Given the description of an element on the screen output the (x, y) to click on. 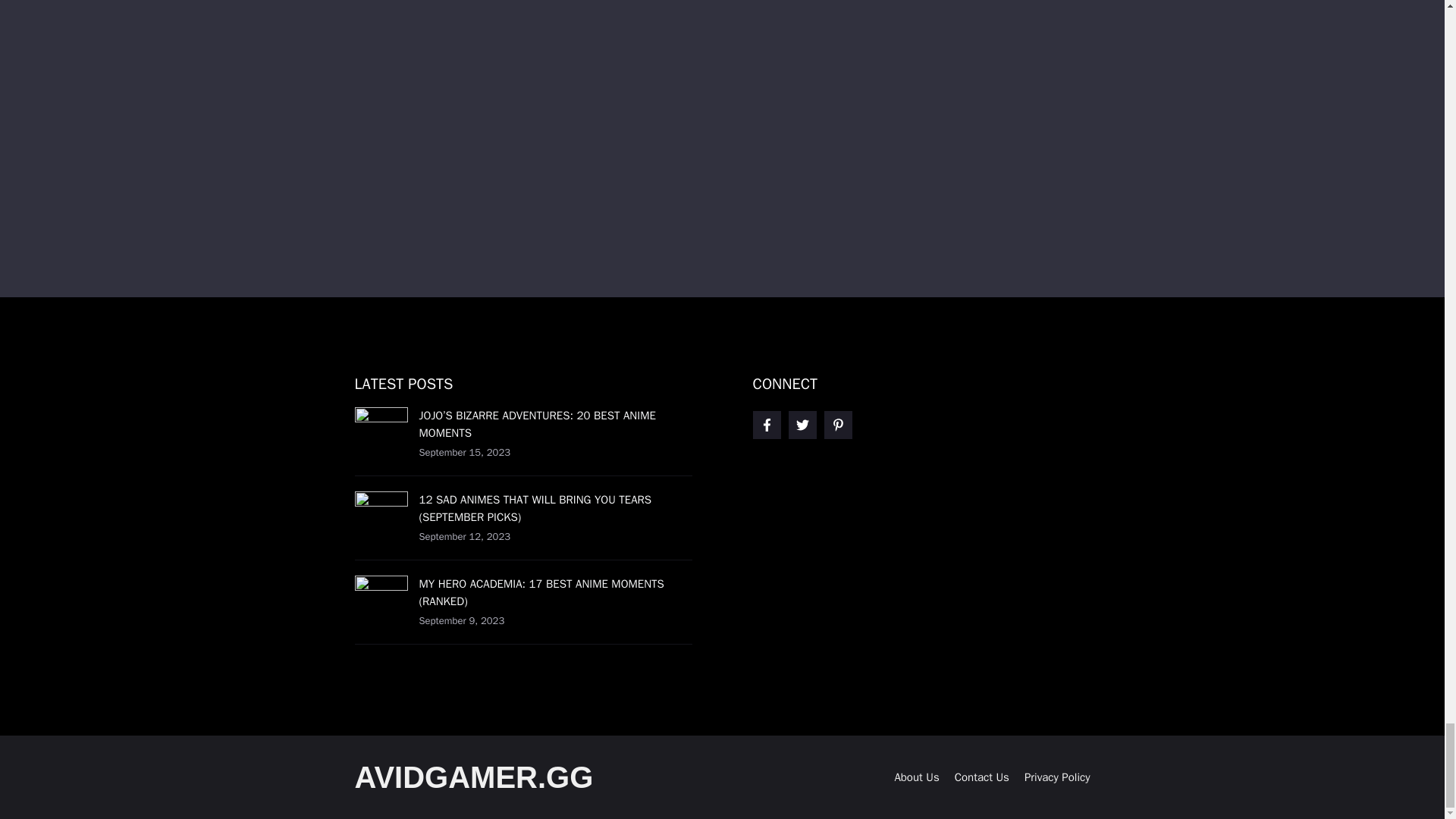
About Us (916, 776)
Privacy Policy (1057, 776)
Contact Us (982, 776)
Contact us (982, 776)
